Given the description of an element on the screen output the (x, y) to click on. 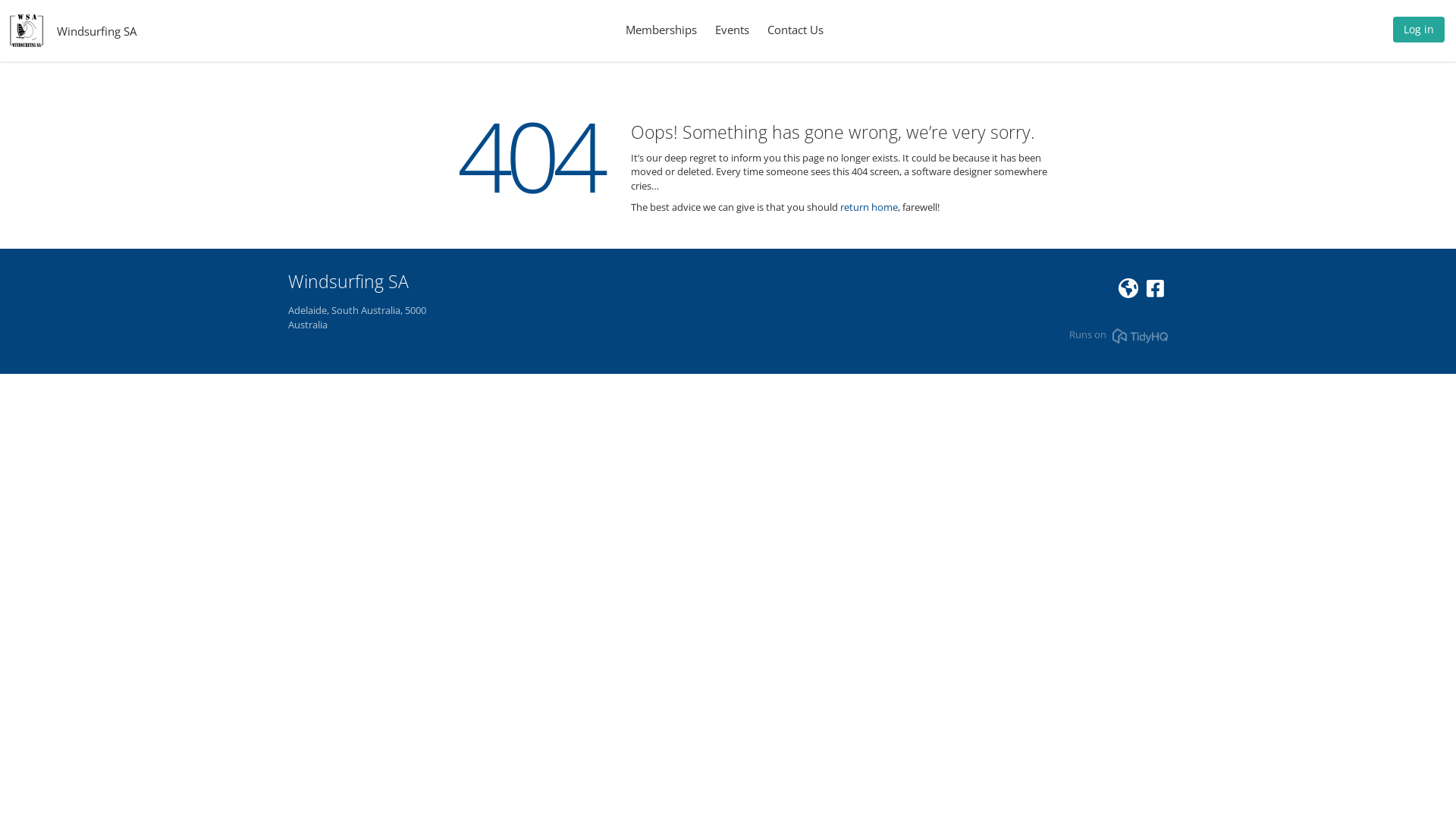
Log in Element type: text (1418, 32)
Events Element type: text (731, 29)
Windsurfing SA Element type: text (96, 29)
Memberships Element type: text (660, 29)
http://www.windsurfingsa.org.au Element type: hover (1128, 291)
return home Element type: text (868, 206)
Windsurfing-SA-165697366839806 Element type: hover (1155, 291)
Contact Us Element type: text (795, 29)
